Given the description of an element on the screen output the (x, y) to click on. 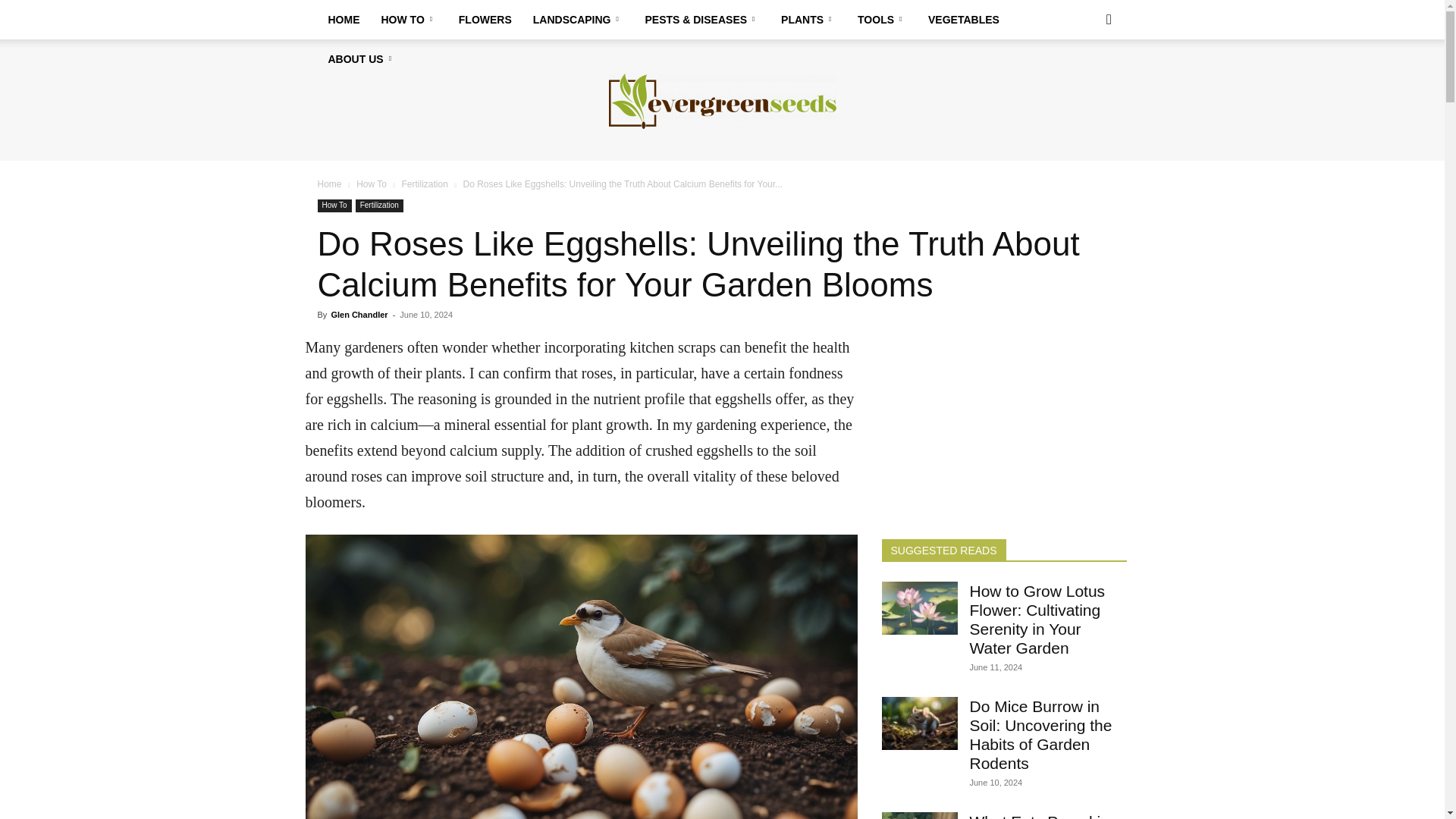
View all posts in How To (371, 184)
View all posts in Fertilization (424, 184)
